Given the description of an element on the screen output the (x, y) to click on. 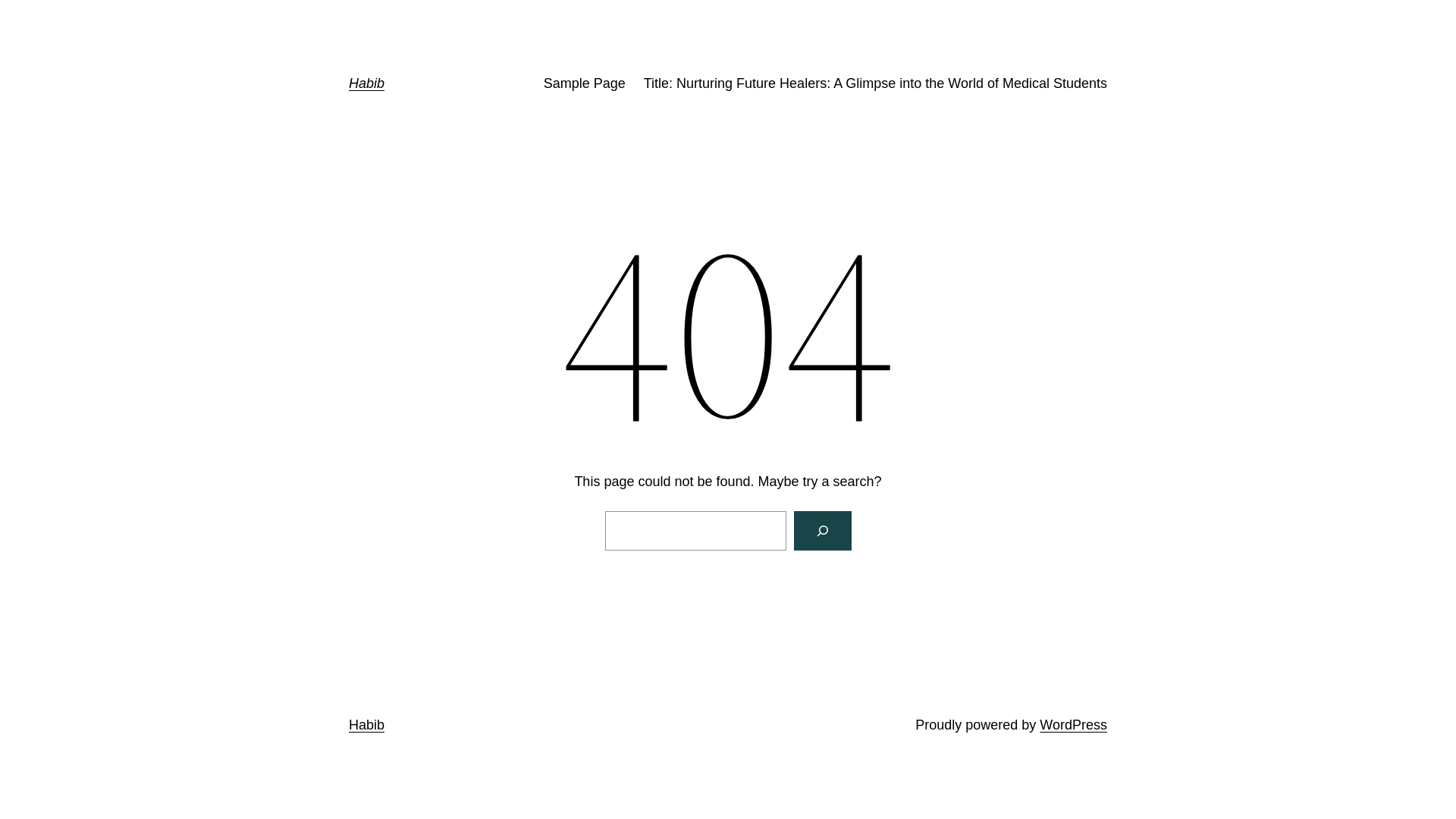
Habib Element type: text (366, 83)
Sample Page Element type: text (584, 83)
WordPress Element type: text (1073, 724)
Habib Element type: text (366, 724)
